Given the description of an element on the screen output the (x, y) to click on. 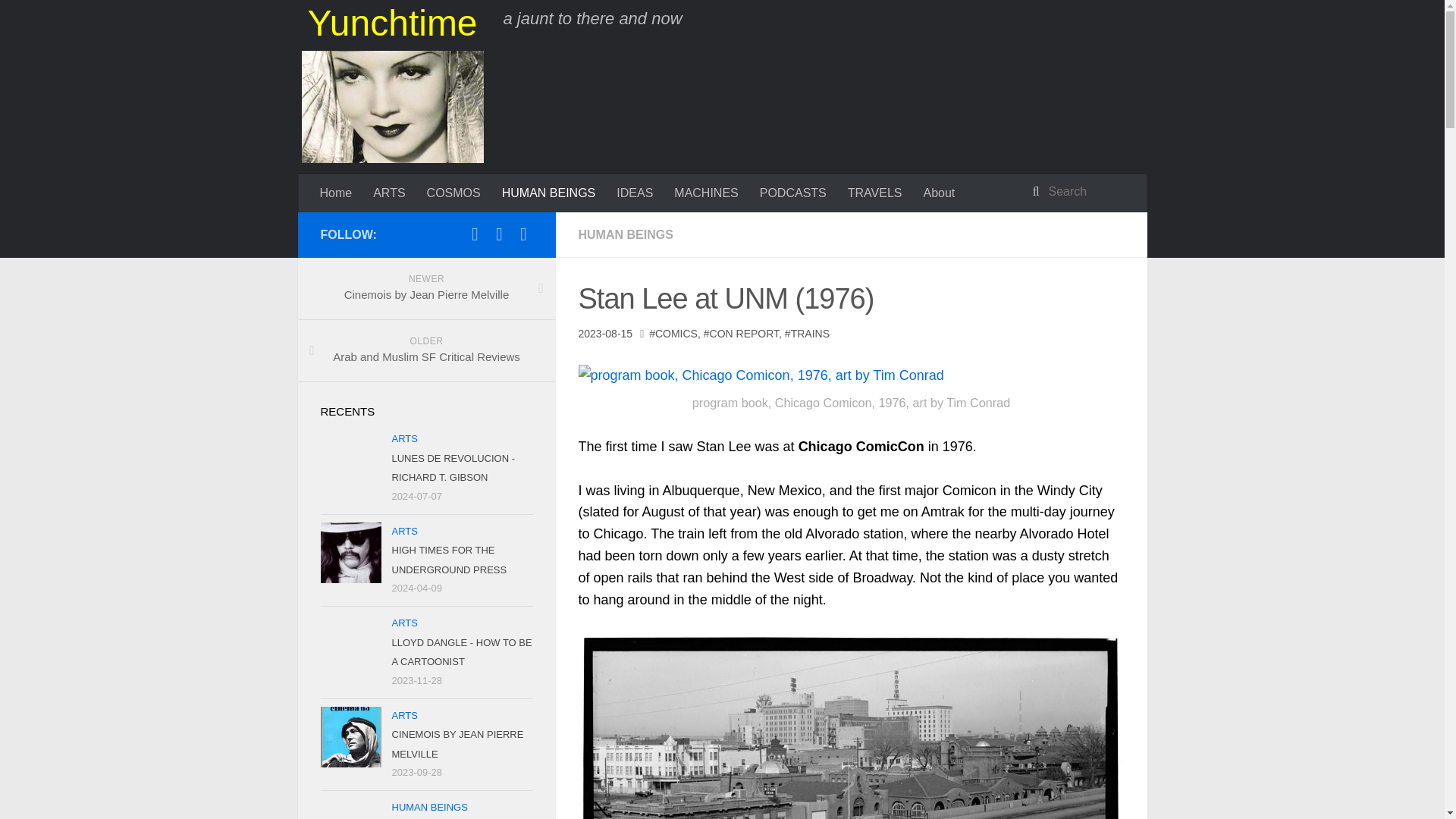
eye (522, 236)
HUMAN BEINGS (625, 234)
TRAVELS (874, 193)
MACHINES (705, 193)
tracks at Alvorado Hotel, Albuquerque (851, 725)
COMICS (673, 333)
TRAINS (425, 288)
ARTS (806, 333)
LUNES DE REVOLUCION - RICHARD T. GIBSON (388, 193)
